Given the description of an element on the screen output the (x, y) to click on. 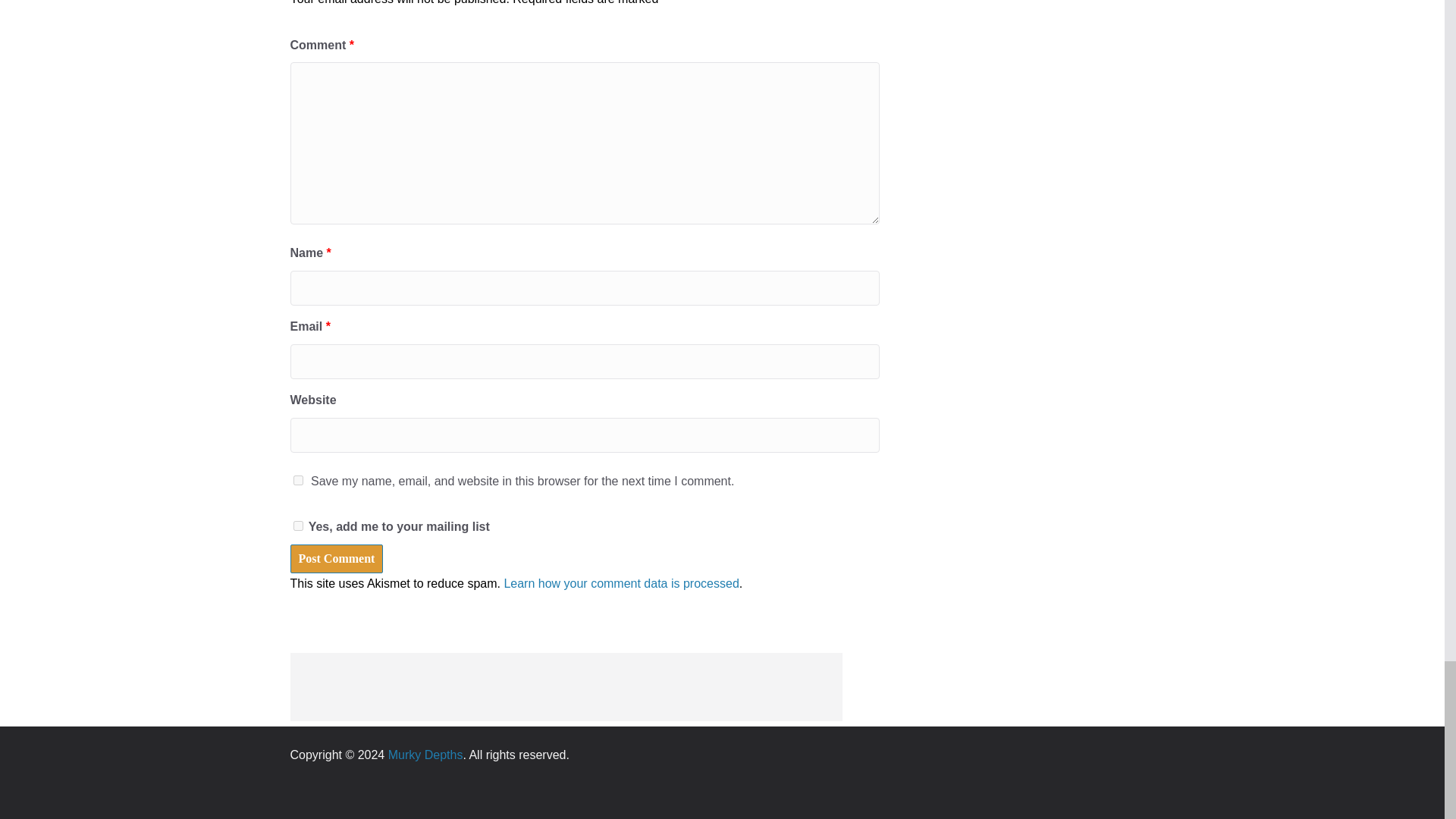
yes (297, 480)
1 (297, 525)
Post Comment (335, 558)
